Given the description of an element on the screen output the (x, y) to click on. 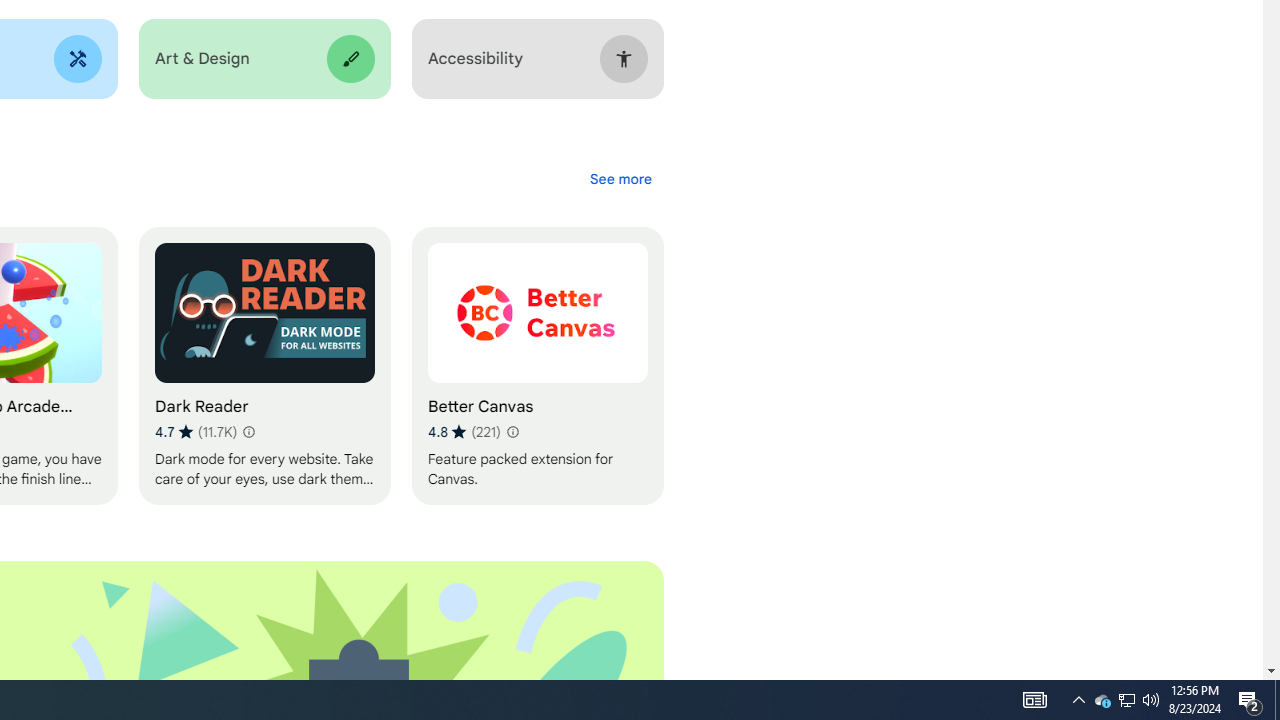
Art & Design (264, 59)
See more personalized recommendations (620, 178)
Dark Reader (264, 366)
Learn more about results and reviews "Dark Reader" (247, 431)
Average rating 4.8 out of 5 stars. 221 ratings. (463, 431)
Accessibility (537, 59)
Better Canvas (537, 366)
Average rating 4.7 out of 5 stars. 11.7K ratings. (195, 431)
Learn more about results and reviews "Better Canvas" (511, 431)
